Given the description of an element on the screen output the (x, y) to click on. 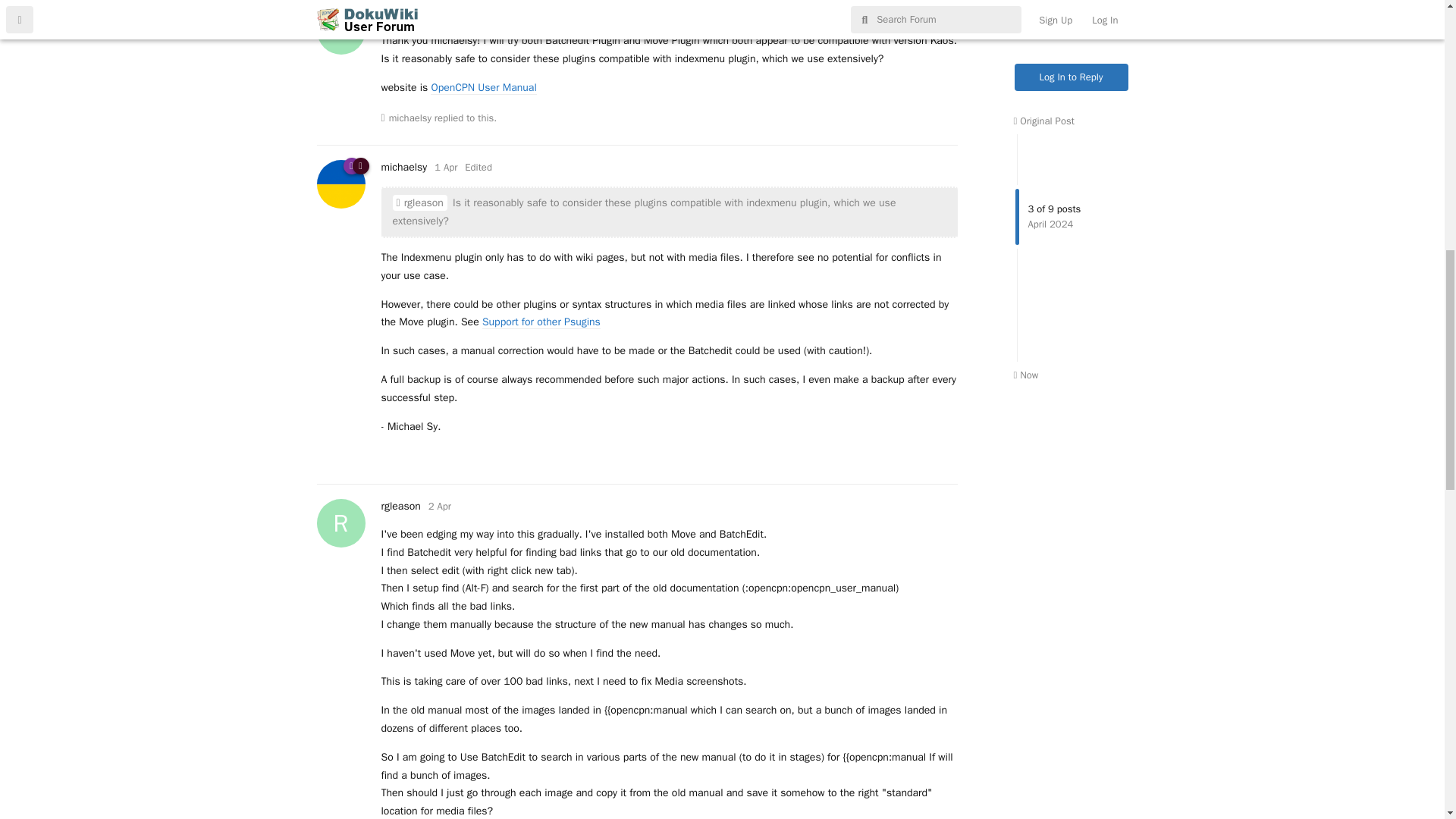
1 Apr (439, 12)
OpenCPN User Manual (482, 88)
1 Apr (445, 166)
michaelsy (403, 166)
rgleason (419, 202)
2 Apr (400, 505)
Monday, April 1, 2024 10:50 PM (439, 505)
Tuesday, April 2, 2024 3:51 AM (439, 12)
michaelsy (439, 505)
Monday, April 1, 2024 11:50 PM (409, 118)
Support for other Psugins (445, 166)
